Given the description of an element on the screen output the (x, y) to click on. 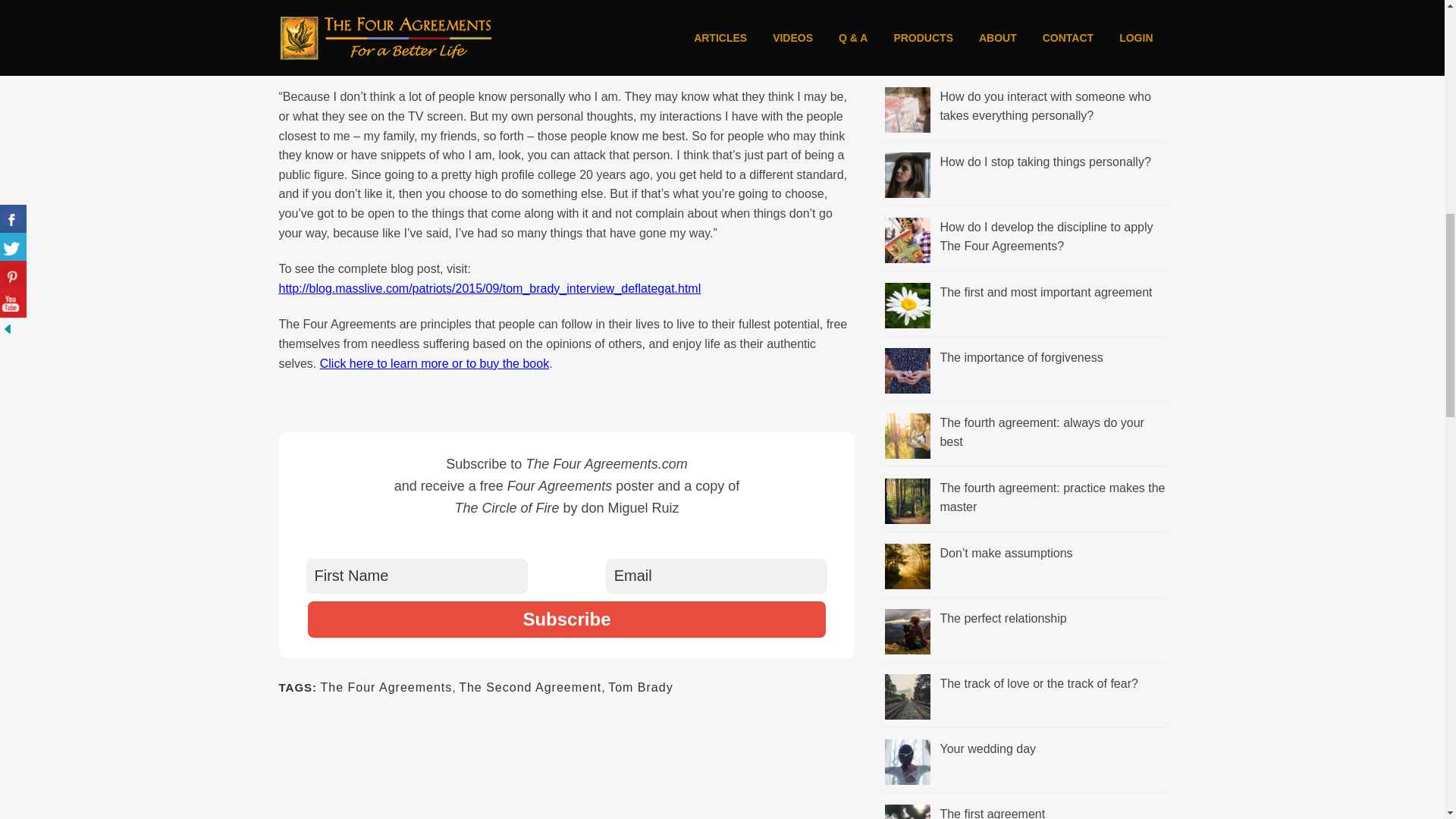
Click here to learn more or to buy the book (434, 362)
